Given the description of an element on the screen output the (x, y) to click on. 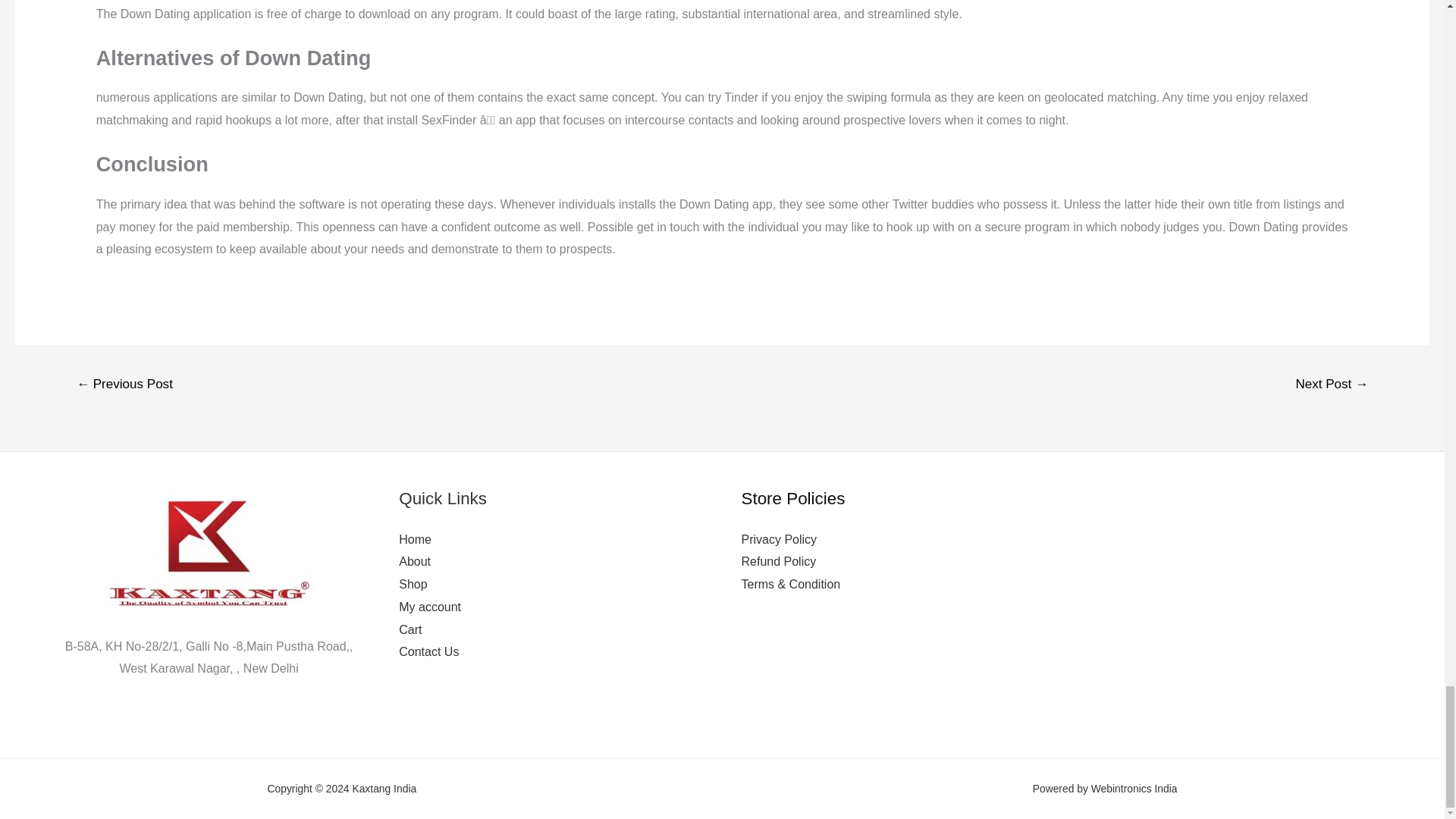
Privacy Policy (778, 539)
About (414, 561)
Shop (412, 584)
Contact Us (428, 651)
Refund Policy (778, 561)
My account (429, 606)
Cart (410, 629)
Home (414, 539)
